Given the description of an element on the screen output the (x, y) to click on. 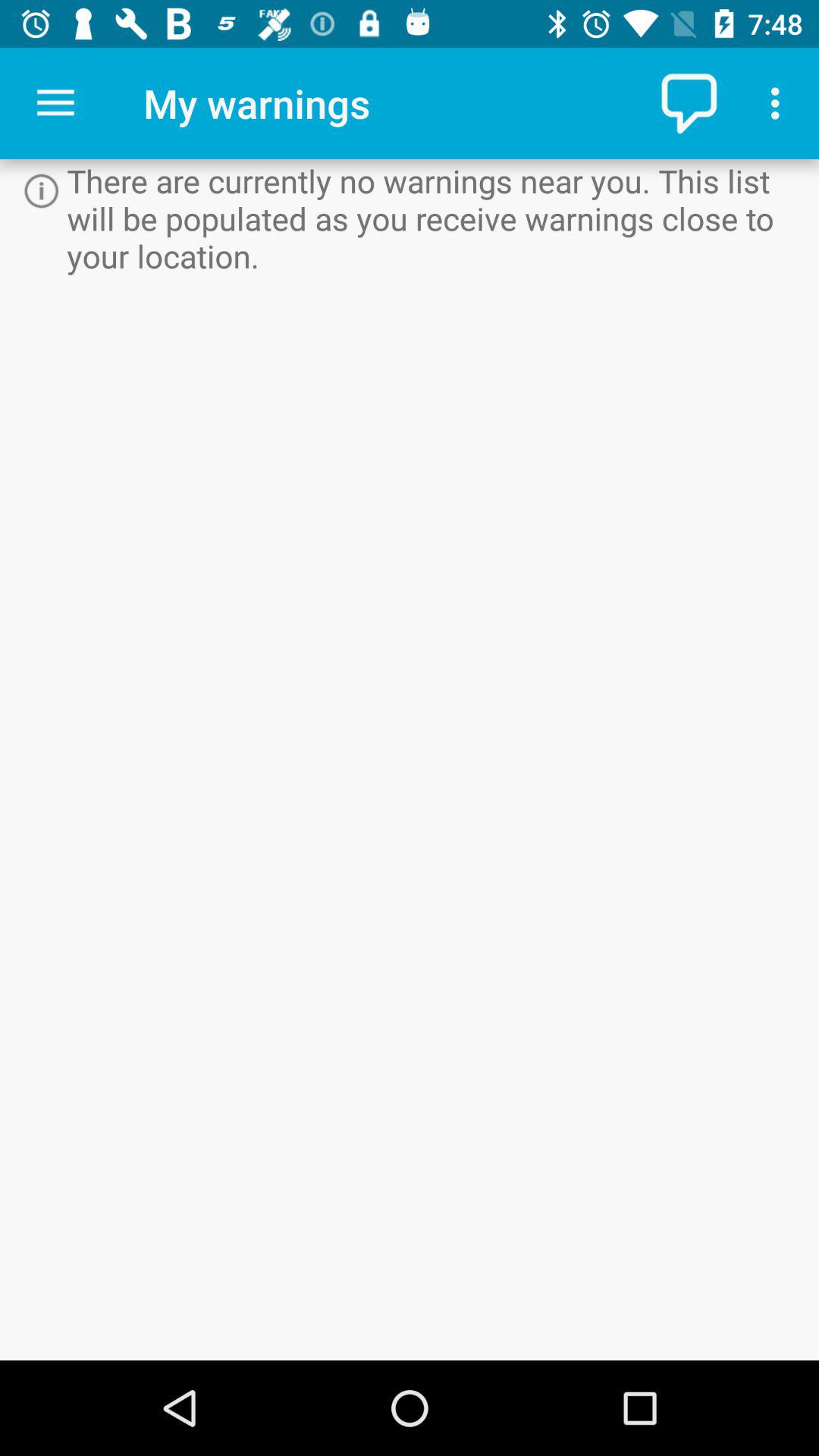
tap app next to my warnings item (55, 103)
